Given the description of an element on the screen output the (x, y) to click on. 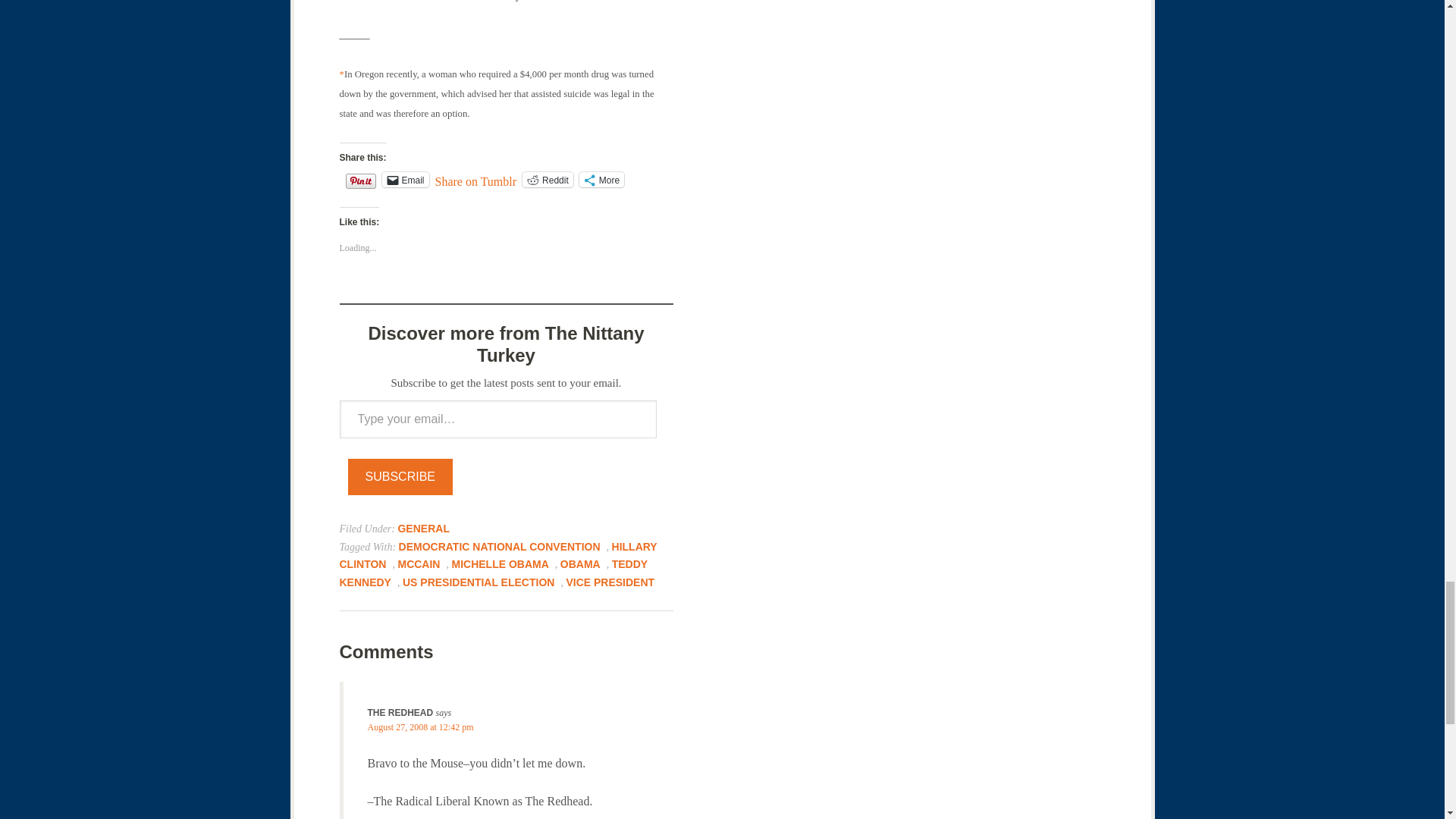
MICHELLE OBAMA (499, 563)
HILLARY CLINTON (498, 554)
Reddit (547, 179)
GENERAL (422, 528)
August 27, 2008 at 12:42 pm (419, 726)
SUBSCRIBE (399, 476)
Share on Tumblr (475, 178)
Please fill in this field. (497, 419)
DEMOCRATIC NATIONAL CONVENTION (498, 545)
Email (405, 179)
Share on Tumblr (475, 178)
MCCAIN (418, 563)
VICE PRESIDENT (609, 582)
Click to share on Reddit (547, 179)
More (601, 179)
